Given the description of an element on the screen output the (x, y) to click on. 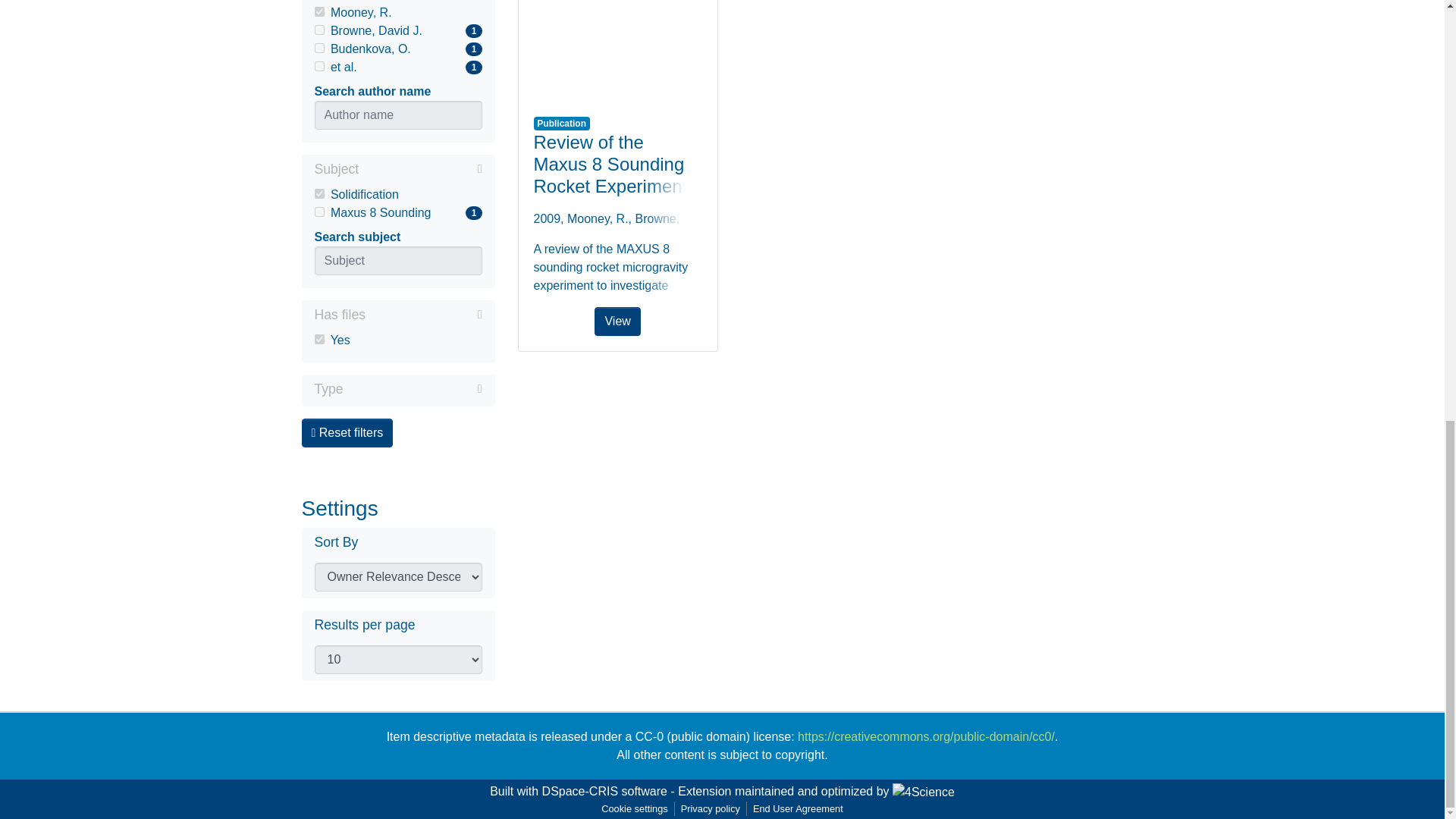
on (318, 11)
on (318, 194)
on (397, 49)
Collapse filter (318, 66)
Subject (423, 314)
on (397, 170)
on (318, 338)
Collapse filter (397, 67)
Expand filter (318, 212)
Mooney, R. (419, 168)
View (412, 389)
